Given the description of an element on the screen output the (x, y) to click on. 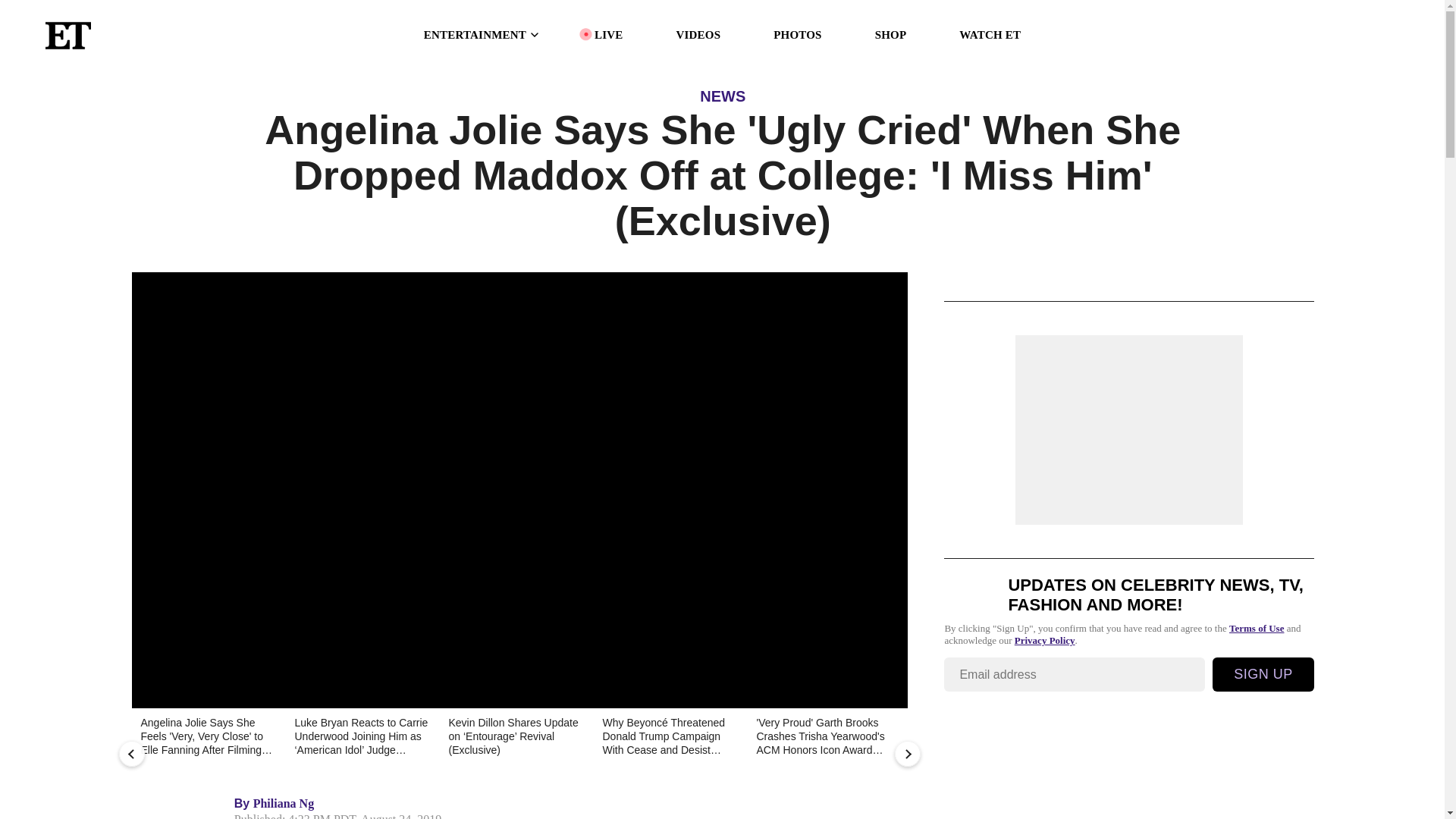
WATCH ET (989, 34)
VIDEOS (697, 34)
ENTERTAINMENT (482, 34)
NEWS (722, 95)
SHOP (891, 34)
LIVE (608, 34)
PHOTOS (797, 34)
